Given the description of an element on the screen output the (x, y) to click on. 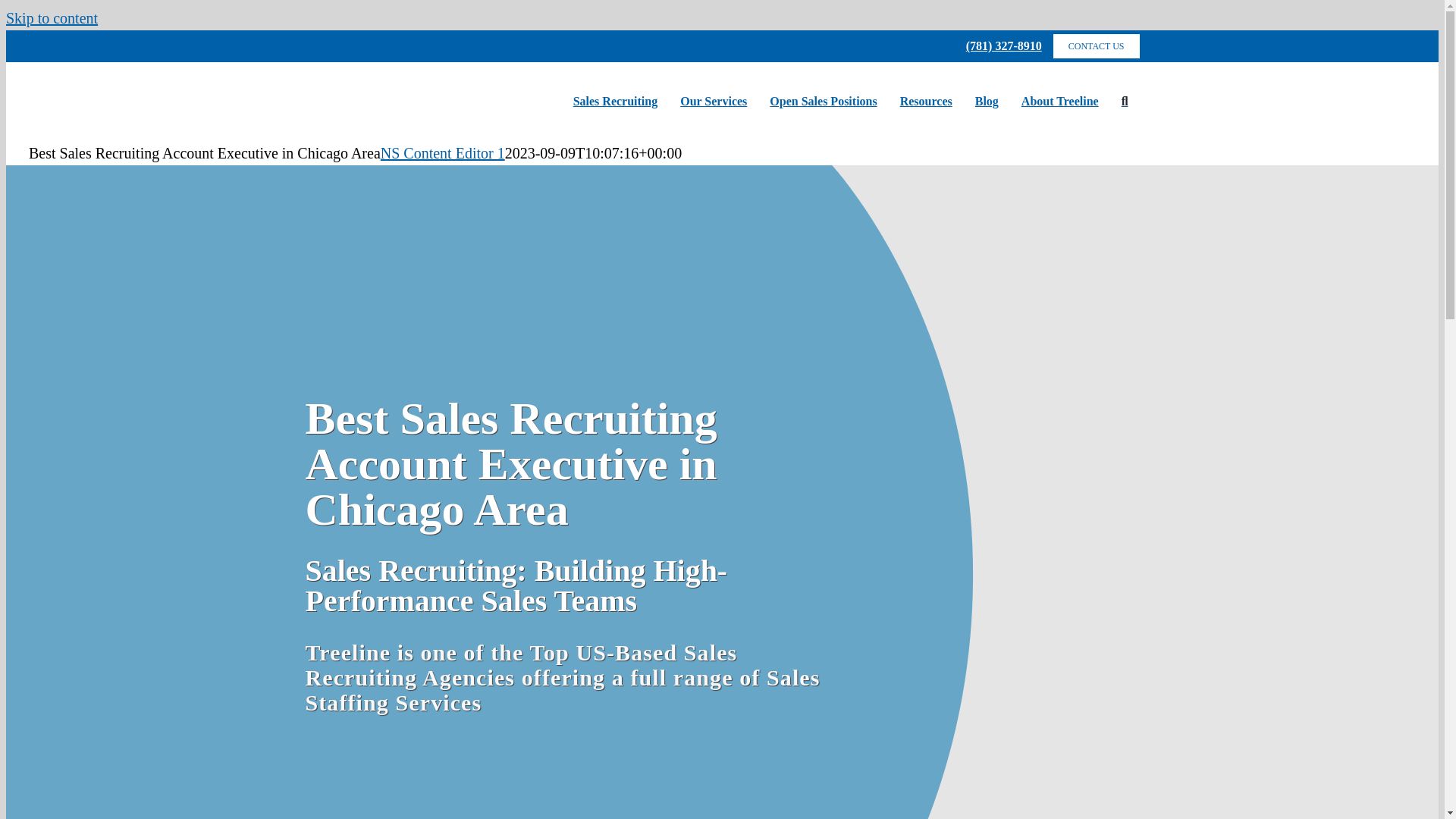
Skip to content (51, 17)
Open Sales Positions (823, 101)
Our Services (713, 101)
CONTACT US (1096, 46)
About Treeline (1059, 101)
Best Nationwide sales recruiting services (615, 101)
Sales Recruiting (615, 101)
Resources (925, 101)
Sales Recruitment Resources (925, 101)
Meet Our Leadership Team (1059, 101)
Our Recruiting Services (713, 101)
Sales Job Seekers (823, 101)
Blog (986, 101)
